Given the description of an element on the screen output the (x, y) to click on. 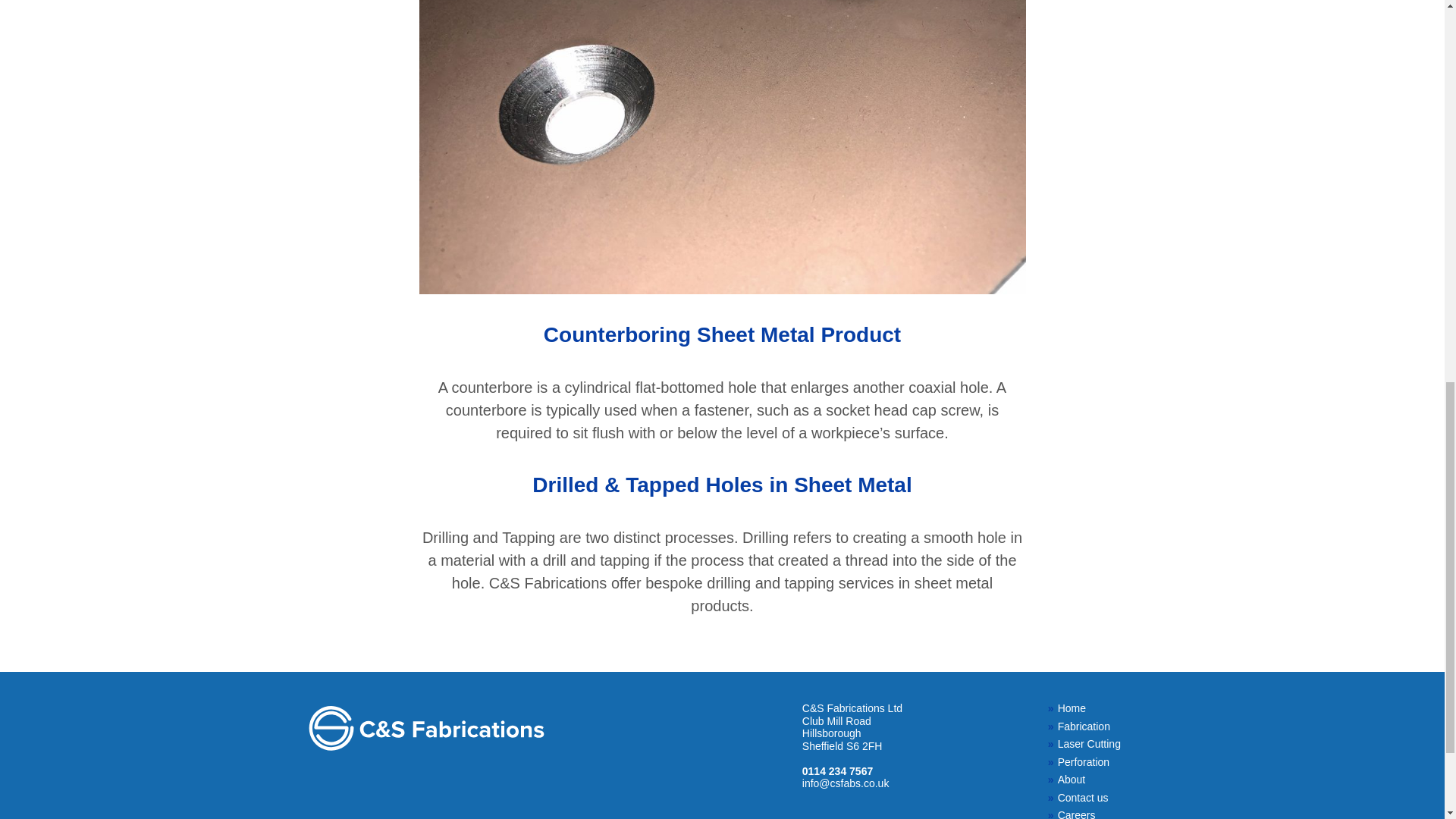
Perforation (1087, 762)
Fabrication (1087, 726)
Laser Cutting (1087, 744)
Careers (1087, 814)
Home (1087, 707)
About (1087, 779)
Contact us (1087, 797)
